Given the description of an element on the screen output the (x, y) to click on. 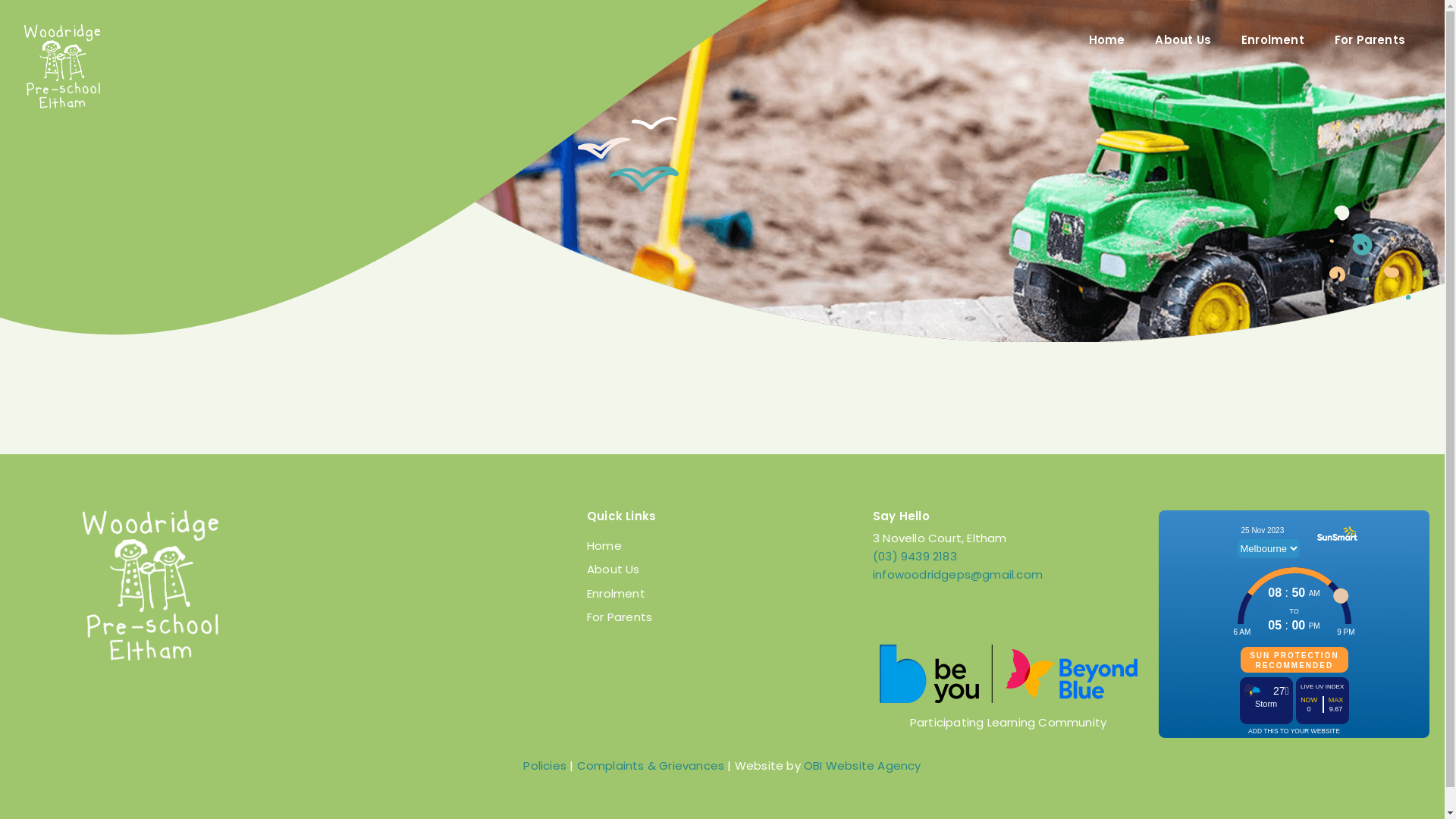
Home Element type: text (1106, 40)
For Parents Element type: text (1369, 40)
For Parents Element type: text (721, 616)
(03) 9439 2183 Element type: text (914, 556)
infowoodridgeps@gmail.com Element type: text (957, 574)
Home Element type: text (721, 545)
About Us Element type: text (1182, 40)
About Us Element type: text (721, 569)
OBI Website Agency Element type: text (862, 765)
Enrolment Element type: text (1272, 40)
Enrolment Element type: text (721, 593)
Policies Element type: text (544, 765)
Complaints & Grievances Element type: text (650, 765)
